Given the description of an element on the screen output the (x, y) to click on. 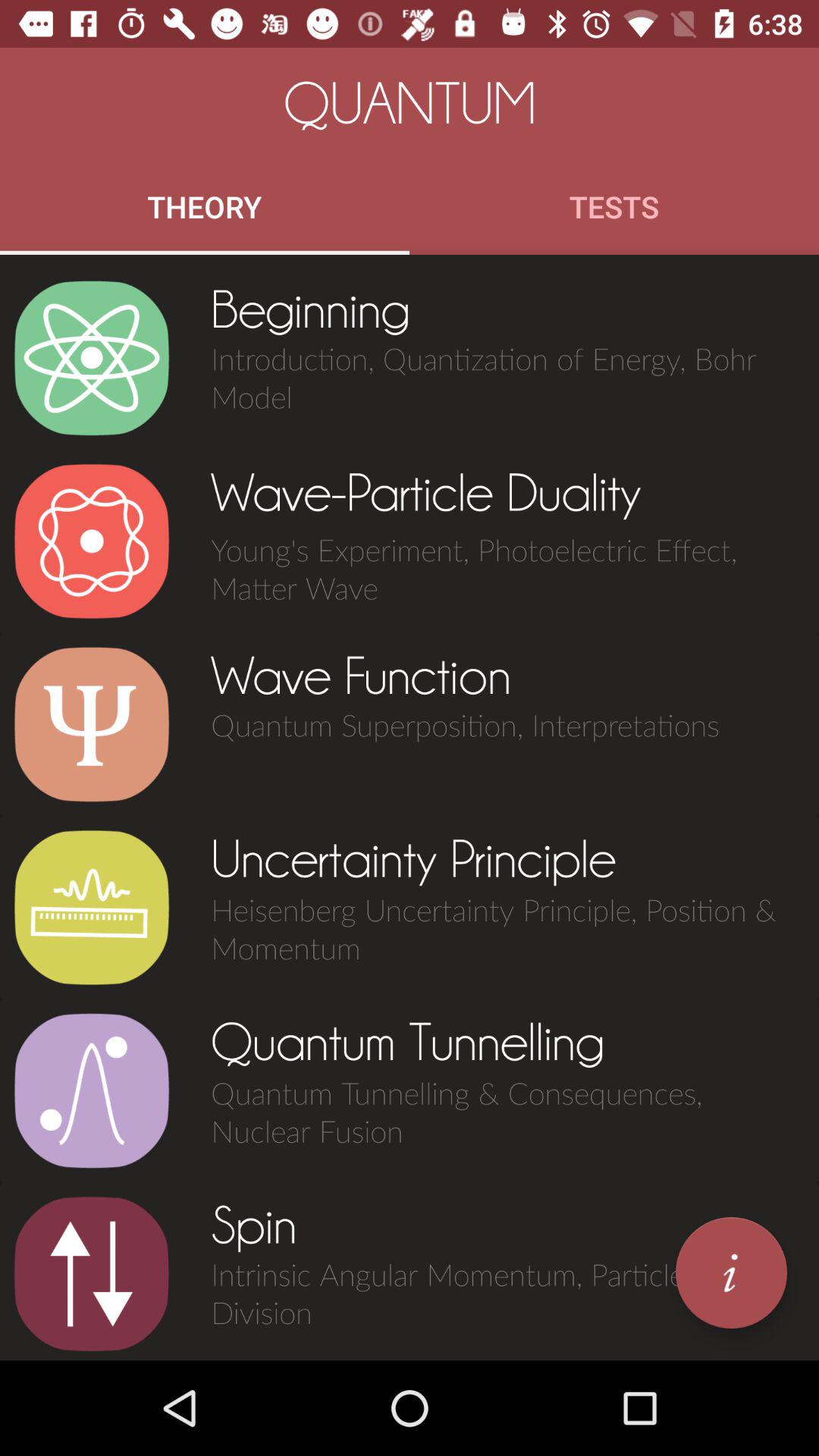
select the item next to uncertainty principle item (91, 907)
